Given the description of an element on the screen output the (x, y) to click on. 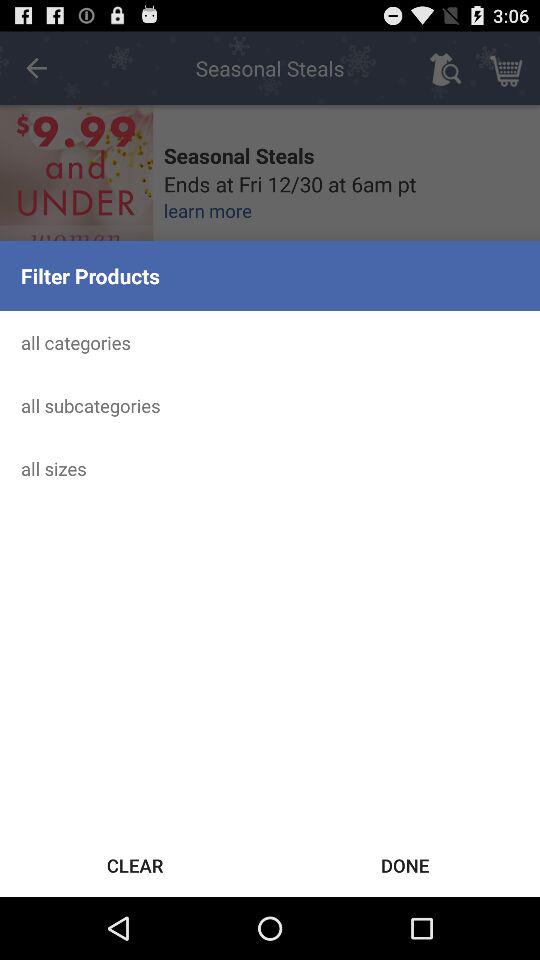
tap the clear (135, 864)
